Given the description of an element on the screen output the (x, y) to click on. 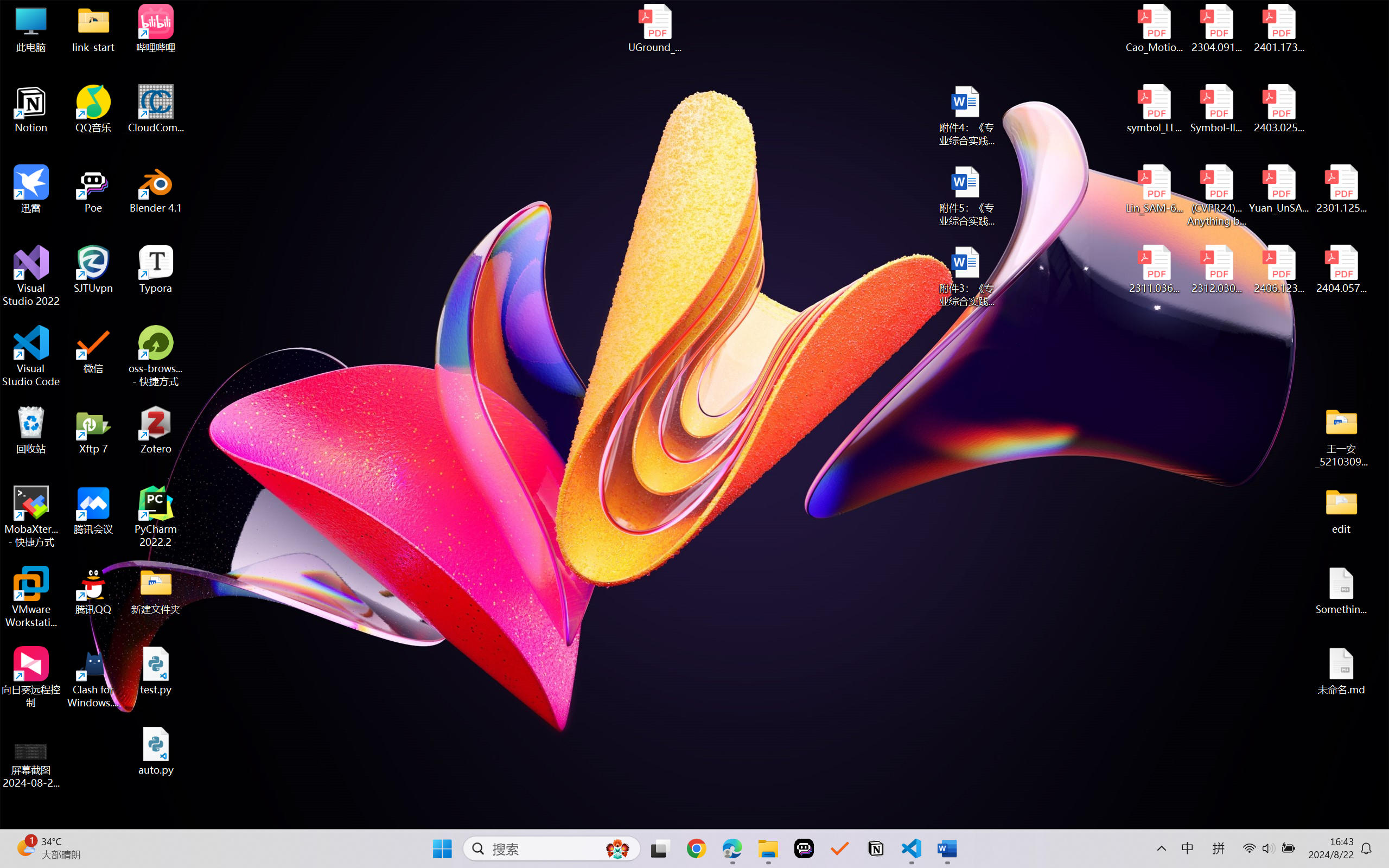
Visual Studio 2022 (31, 276)
UGround_paper.pdf (654, 28)
SJTUvpn (93, 269)
PyCharm 2022.2 (156, 516)
